Given the description of an element on the screen output the (x, y) to click on. 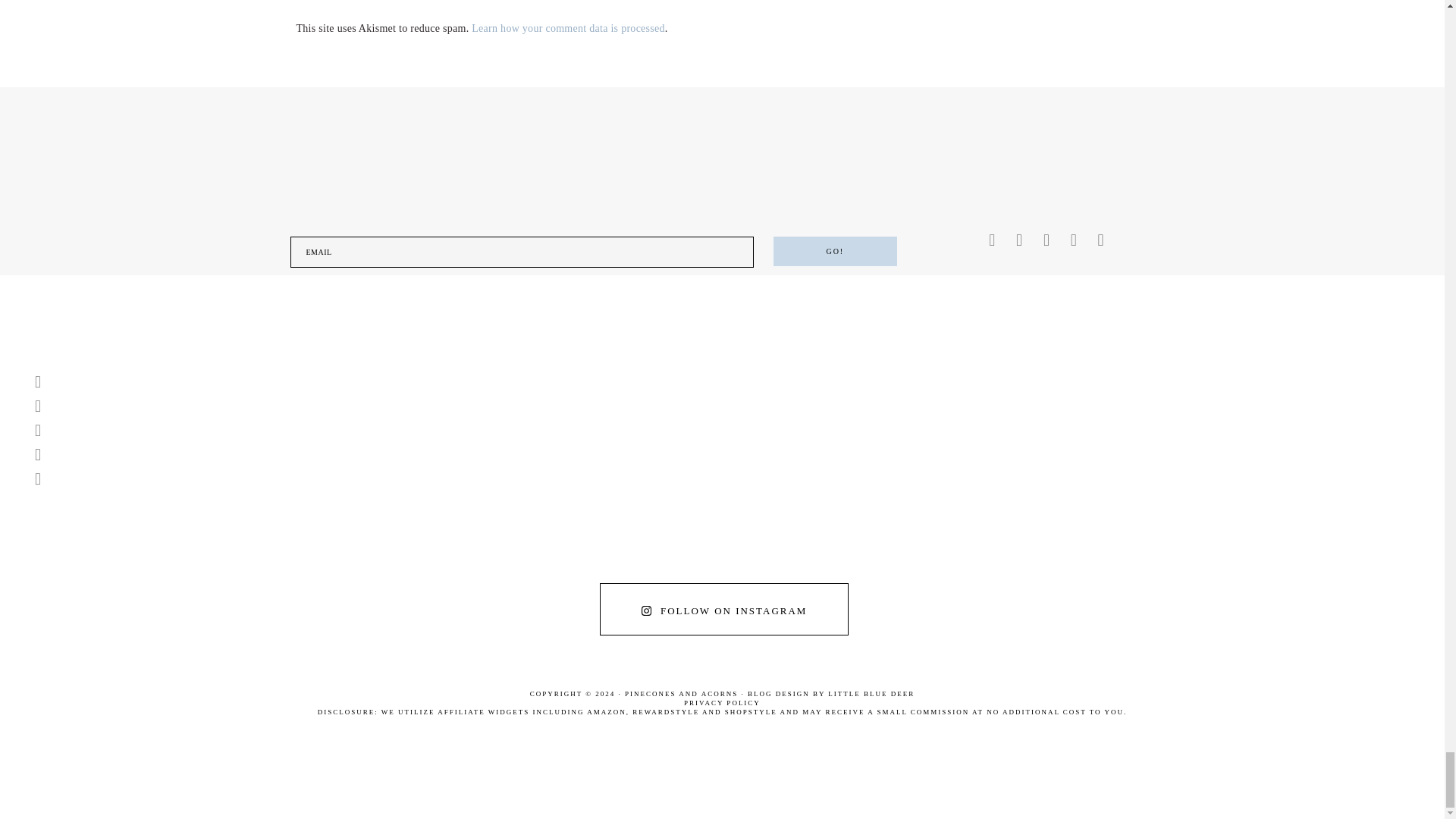
Go! (834, 251)
